Given the description of an element on the screen output the (x, y) to click on. 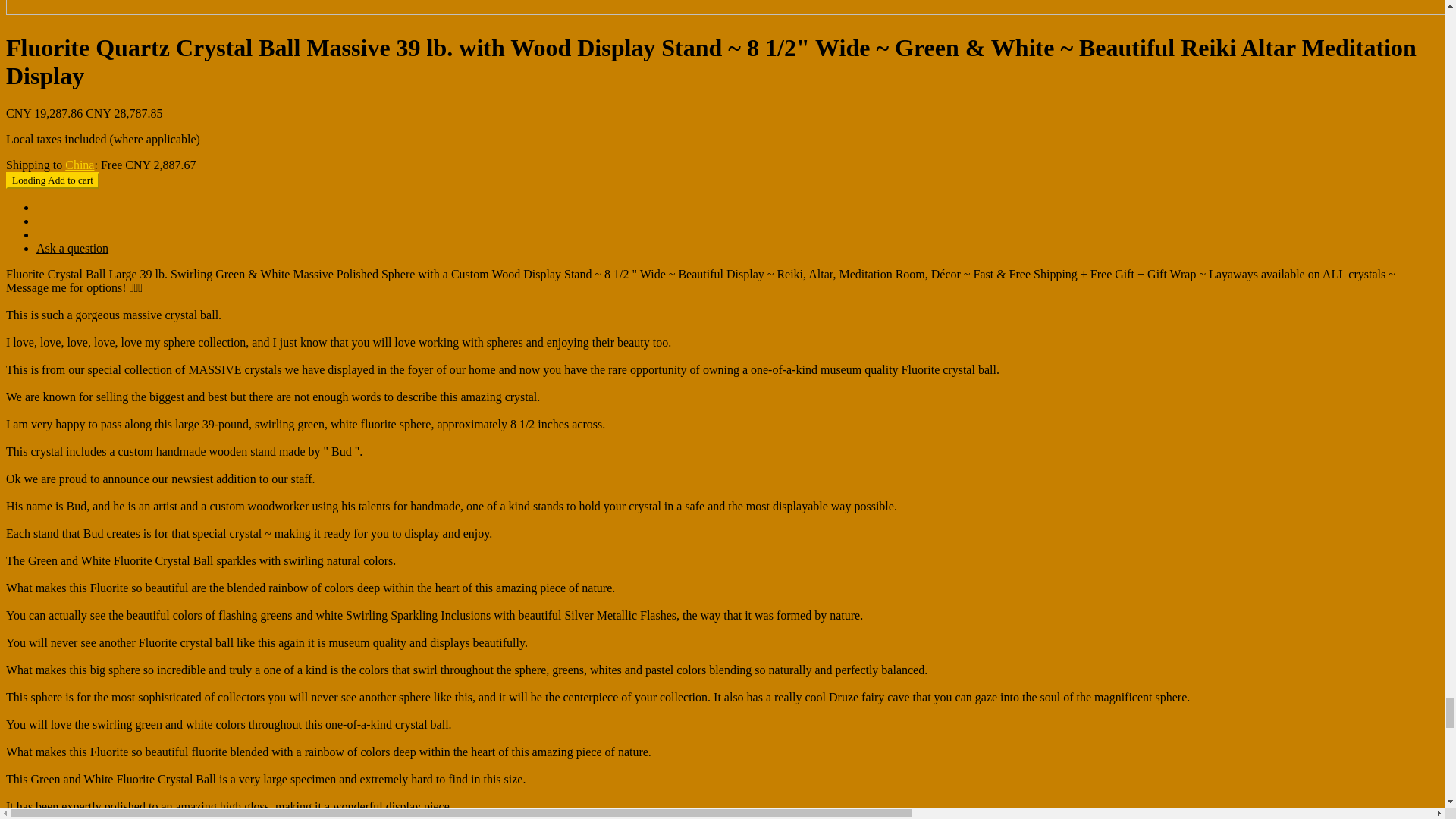
Loading Add to cart (52, 180)
China (79, 164)
Ask a question (71, 247)
